Given the description of an element on the screen output the (x, y) to click on. 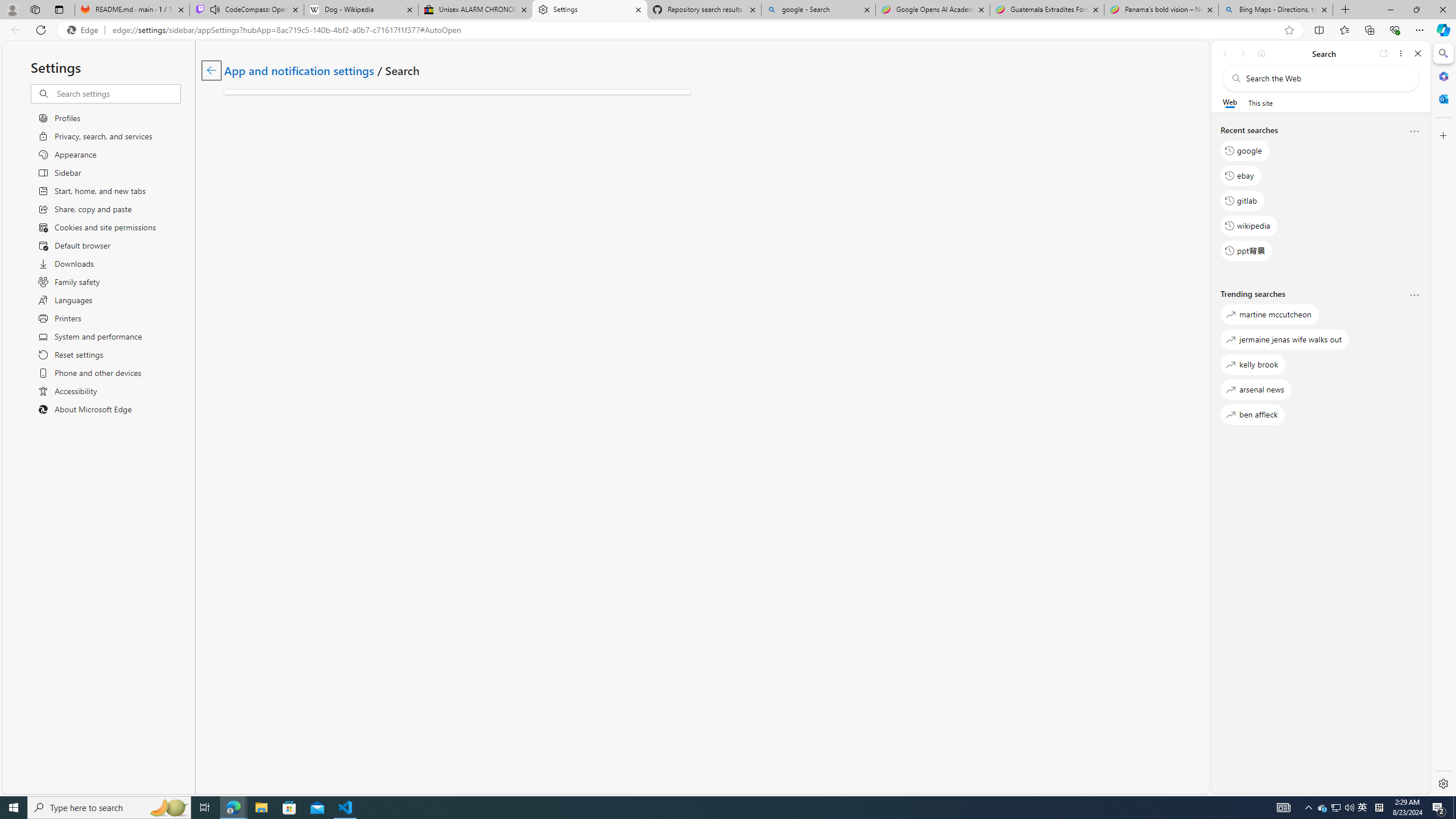
Class: c01177 (210, 70)
Dog - Wikipedia (360, 9)
